Given the description of an element on the screen output the (x, y) to click on. 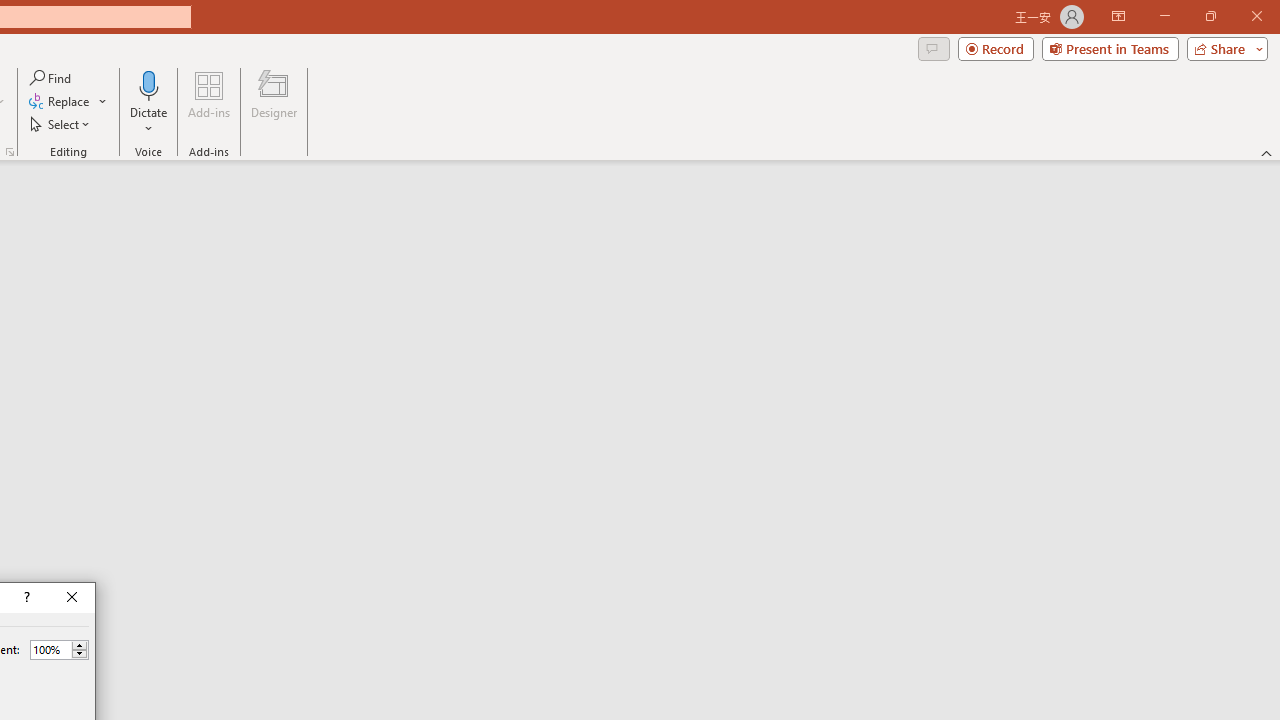
Context help (25, 597)
